Given the description of an element on the screen output the (x, y) to click on. 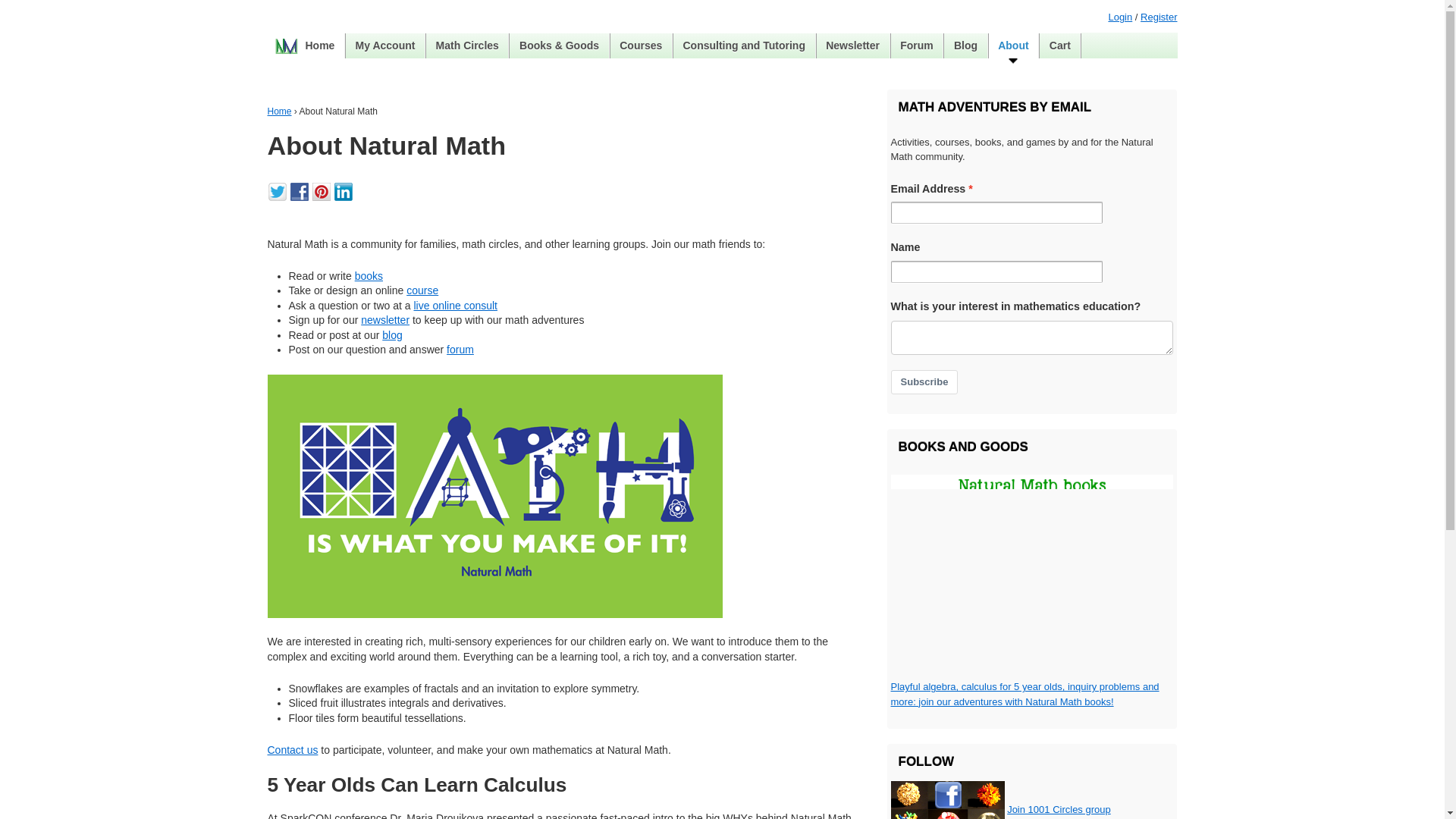
Math Circles (467, 45)
live online consult (455, 305)
Courses (640, 45)
Login (1120, 16)
Linkedin (344, 189)
forum (460, 349)
Facebook (300, 189)
My Account (385, 45)
Login (1120, 16)
Twitter (278, 189)
About (1013, 45)
Subscribe (924, 381)
Register (1158, 16)
Pinterest (323, 189)
